Given the description of an element on the screen output the (x, y) to click on. 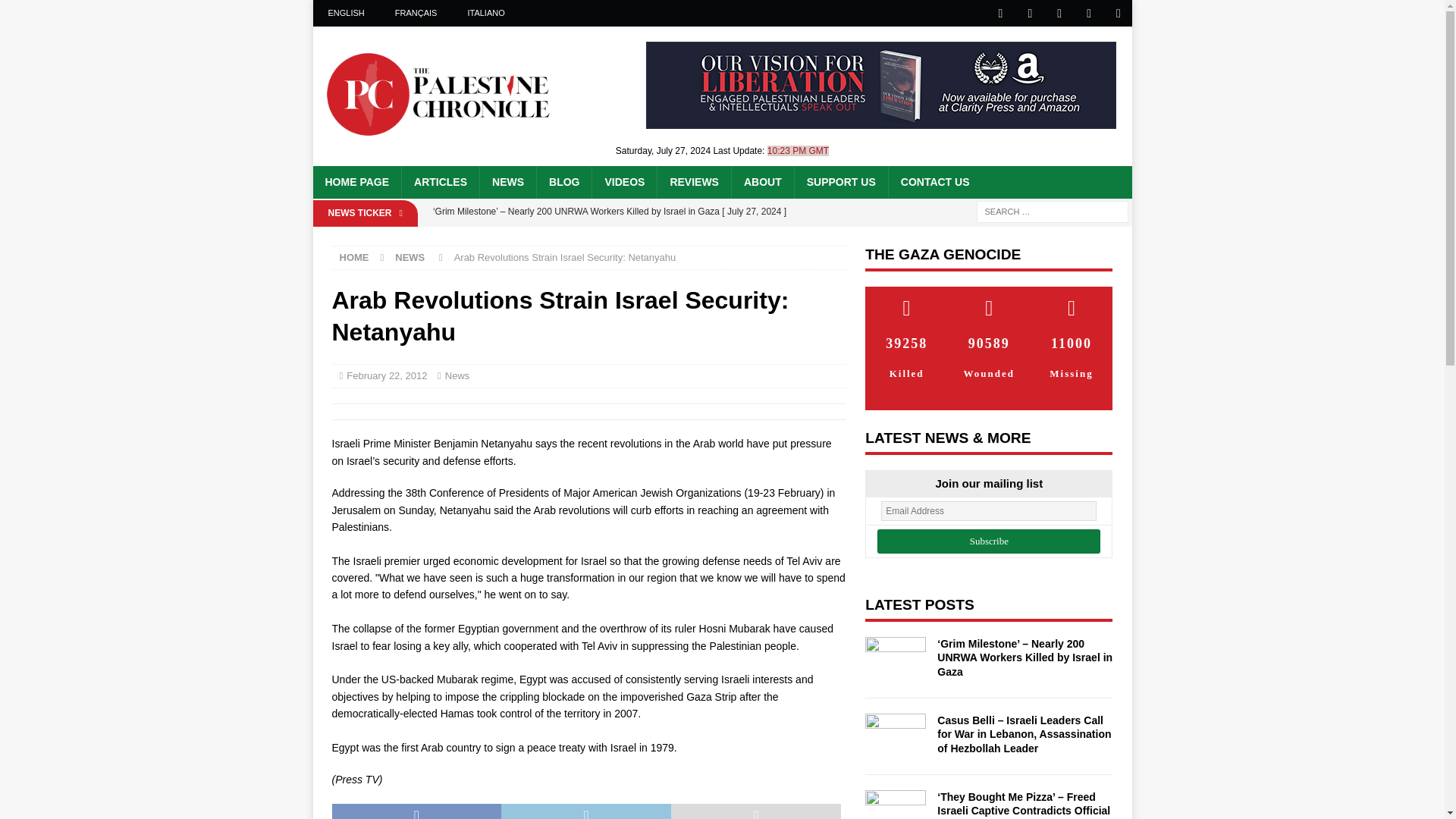
HOME (354, 256)
ARTICLES (440, 182)
BLOG (563, 182)
NEWS (409, 256)
REVIEWS (693, 182)
Search (56, 11)
HOME PAGE (357, 182)
News (457, 375)
VIDEOS (623, 182)
SUPPORT US (840, 182)
THE GAZA GENOCIDE (942, 254)
February 22, 2012 (386, 375)
ABOUT (761, 182)
CONTACT US (934, 182)
